Given the description of an element on the screen output the (x, y) to click on. 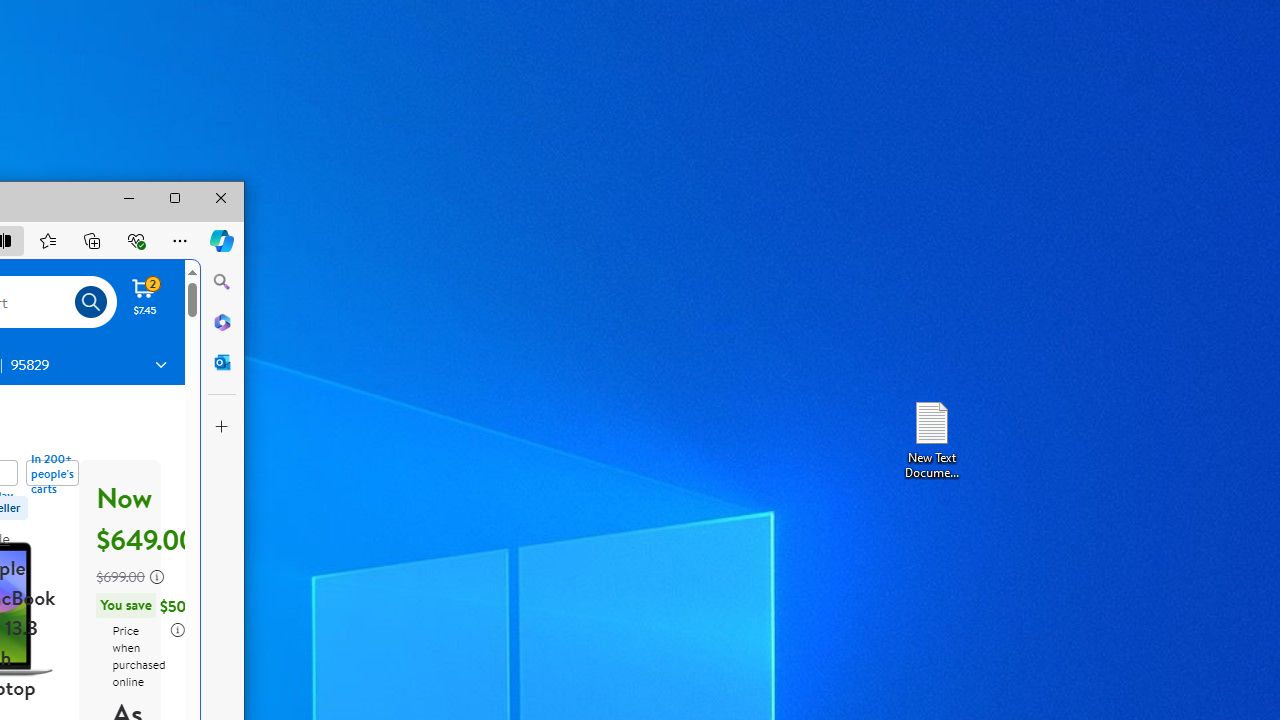
Close Search pane (221, 282)
Maximize (175, 198)
Cart contains 2 items Total Amount $7.45 (145, 295)
Search icon (91, 301)
New Text Document (2) (931, 438)
learn more about strikethrough prices (157, 576)
